Given the description of an element on the screen output the (x, y) to click on. 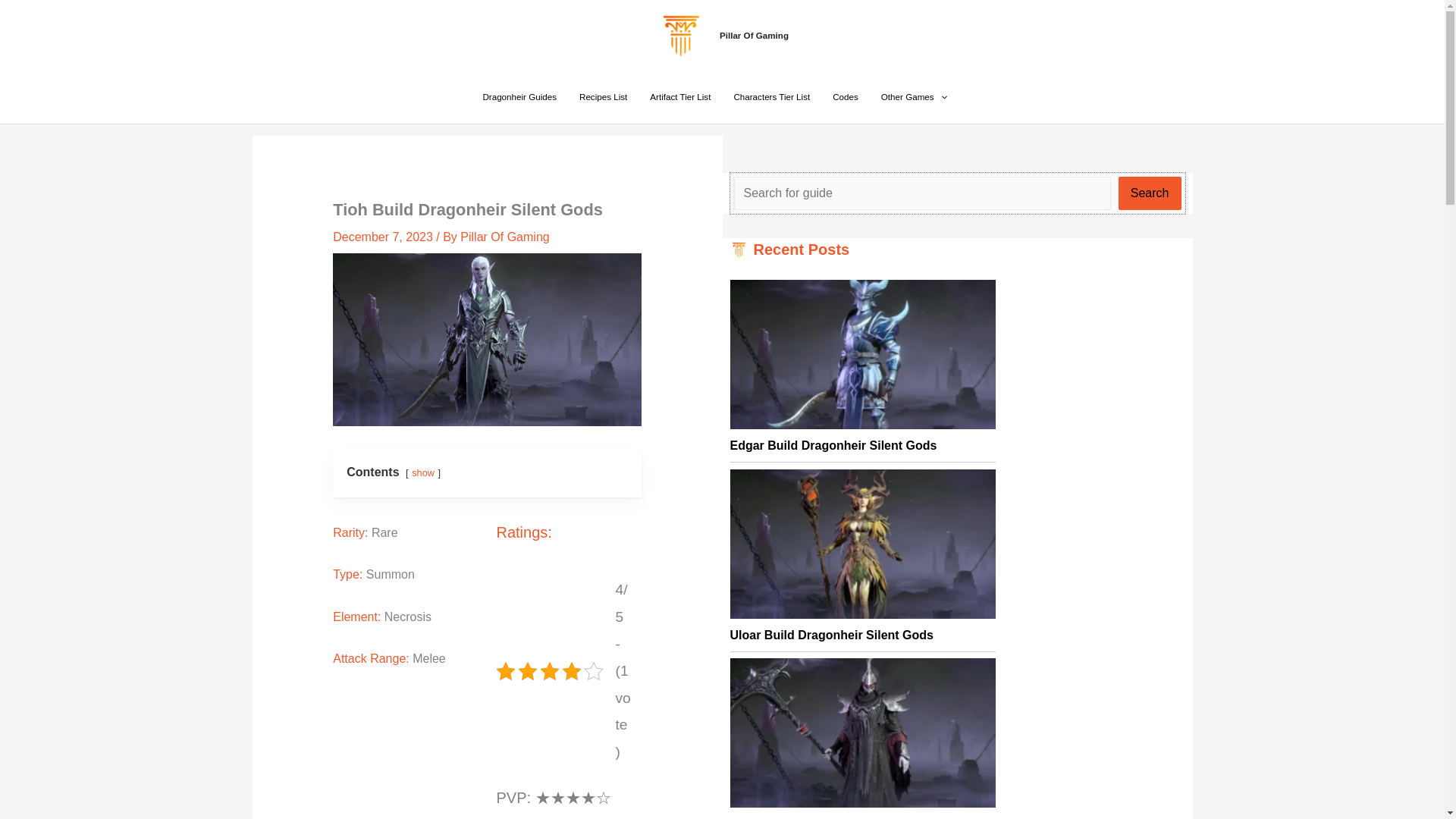
Pillar Of Gaming (754, 35)
Codes (845, 97)
Dragonheir Guides (518, 97)
Recipes List (603, 97)
View all posts by Pillar Of Gaming (504, 236)
Artifact Tier List (680, 97)
Characters Tier List (771, 97)
Other Games (913, 97)
